Given the description of an element on the screen output the (x, y) to click on. 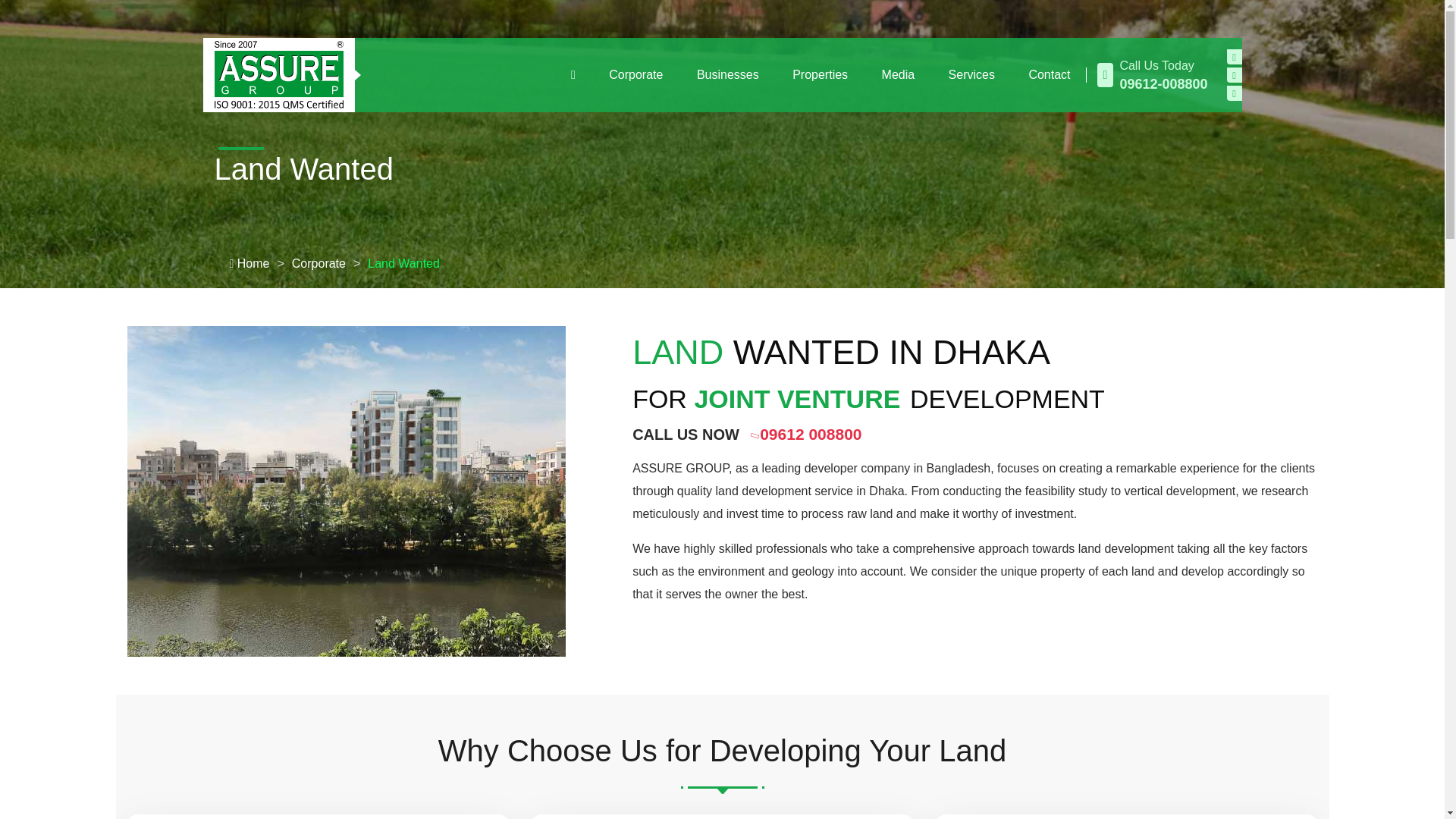
Media (898, 75)
Visit our linkedin page (1234, 92)
Businesses (727, 75)
Properties (820, 75)
Corporate (636, 75)
Visit our facebook page (1234, 56)
Visit our youtube page (1234, 74)
